Given the description of an element on the screen output the (x, y) to click on. 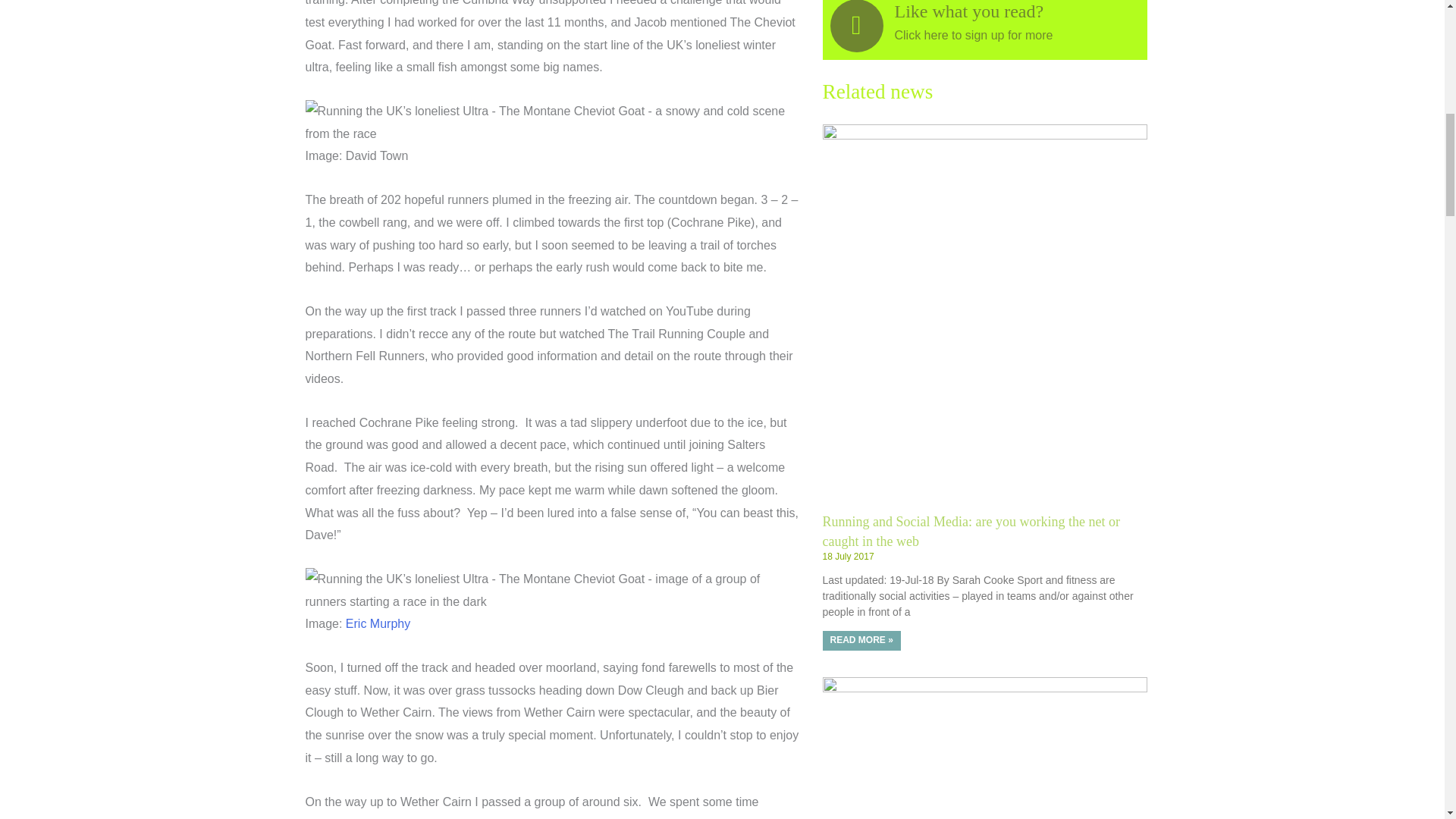
Like what you read? (969, 11)
Eric Murphy (378, 623)
